Given the description of an element on the screen output the (x, y) to click on. 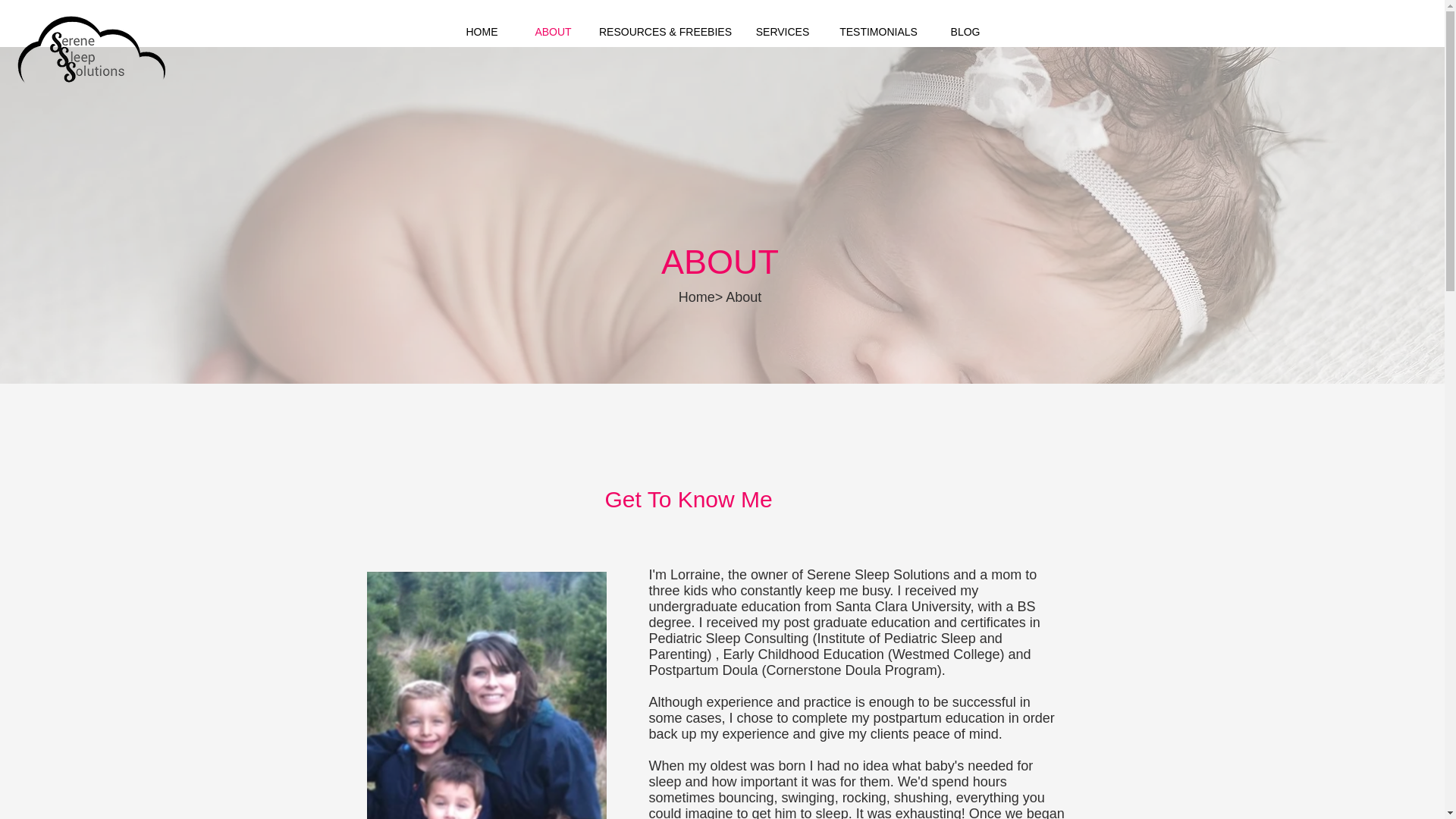
TESTIMONIALS (878, 32)
HOME (481, 32)
Embedded Content (881, 84)
ABOUT (552, 32)
logo.png (91, 57)
BLOG (965, 32)
SERVICES (782, 32)
